Given the description of an element on the screen output the (x, y) to click on. 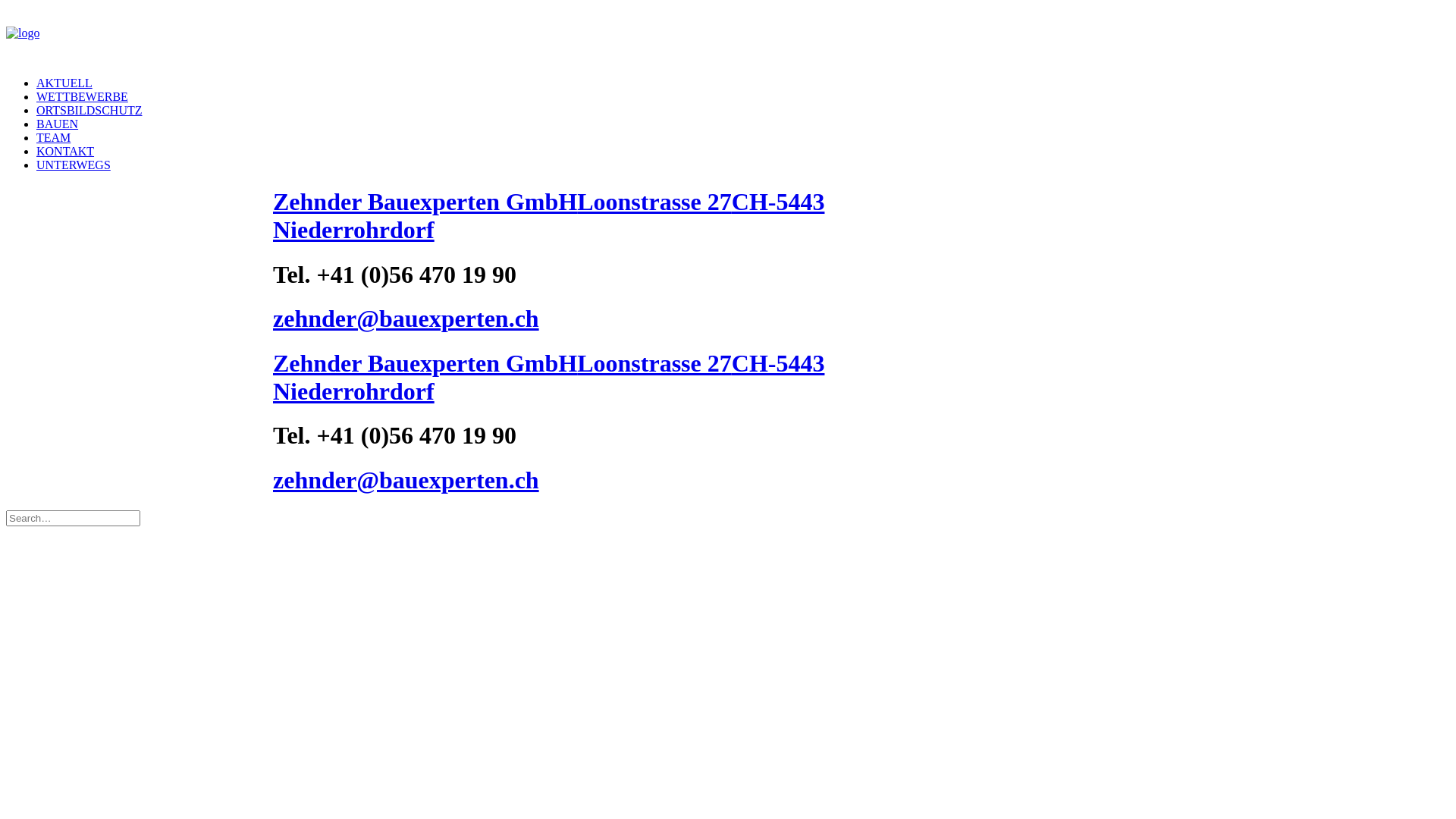
ORTSBILDSCHUTZ Element type: text (89, 109)
zehnder@bauexperten.ch Element type: text (406, 318)
TEAM Element type: text (53, 137)
UNTERWEGS Element type: text (73, 164)
zehnder@bauexperten.ch Element type: text (406, 479)
Zehnder Bauexperten GmbH Element type: text (425, 201)
Loonstrasse 27 Element type: text (654, 362)
Loonstrasse 27 Element type: text (654, 201)
Search for: Element type: hover (73, 518)
CH-5443 Niederrohrdorf Element type: text (548, 376)
BAUEN Element type: text (57, 123)
CH-5443 Niederrohrdorf Element type: text (548, 215)
AKTUELL Element type: text (64, 82)
WETTBEWERBE Element type: text (82, 96)
KONTAKT Element type: text (65, 150)
Zehnder Bauexperten GmbH Element type: text (425, 362)
